Given the description of an element on the screen output the (x, y) to click on. 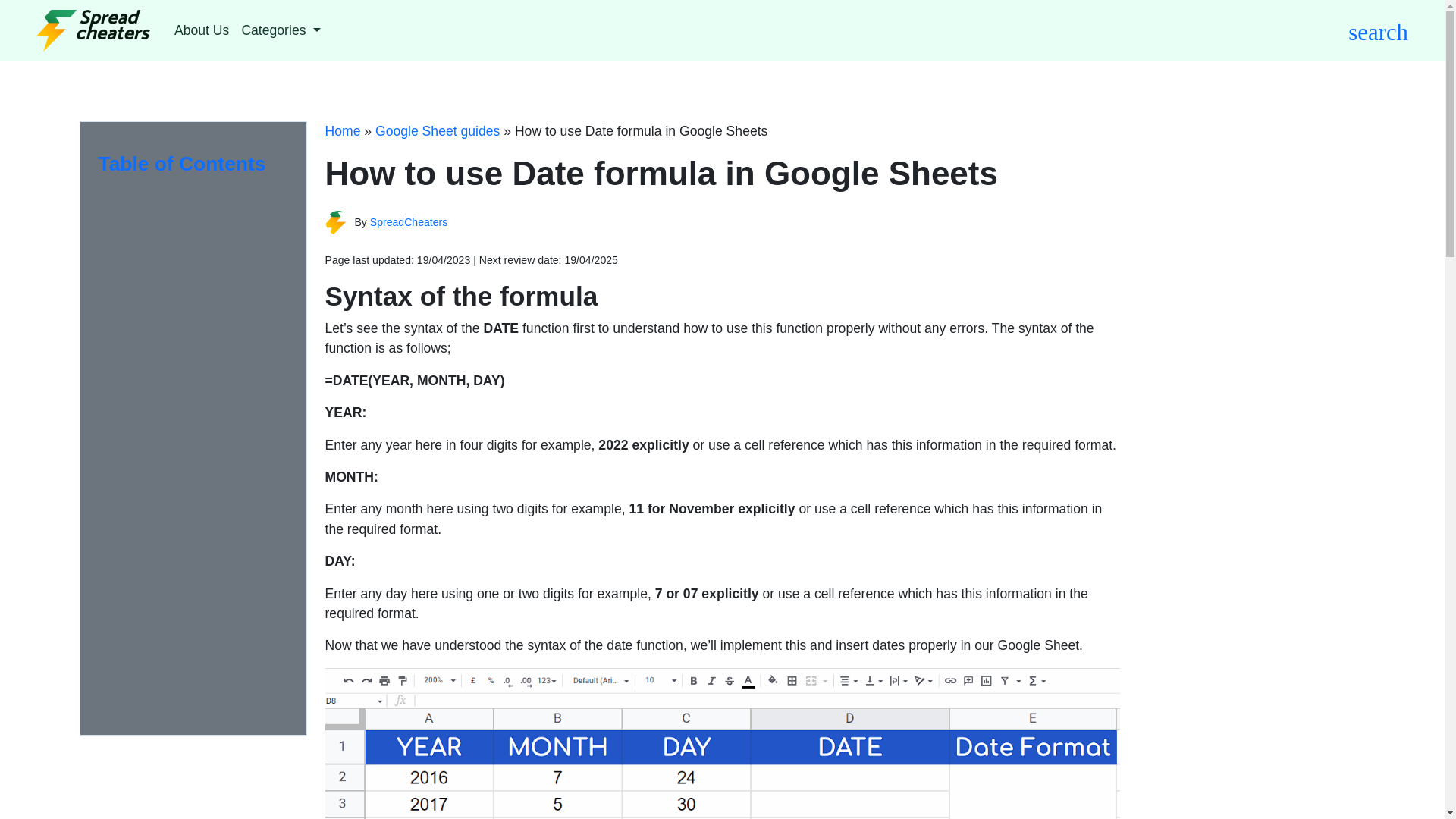
search (1377, 30)
Google Sheet guides (437, 130)
SpreadCheaters (408, 222)
About Us (201, 29)
Categories (280, 29)
Home (341, 130)
Search (901, 94)
